Given the description of an element on the screen output the (x, y) to click on. 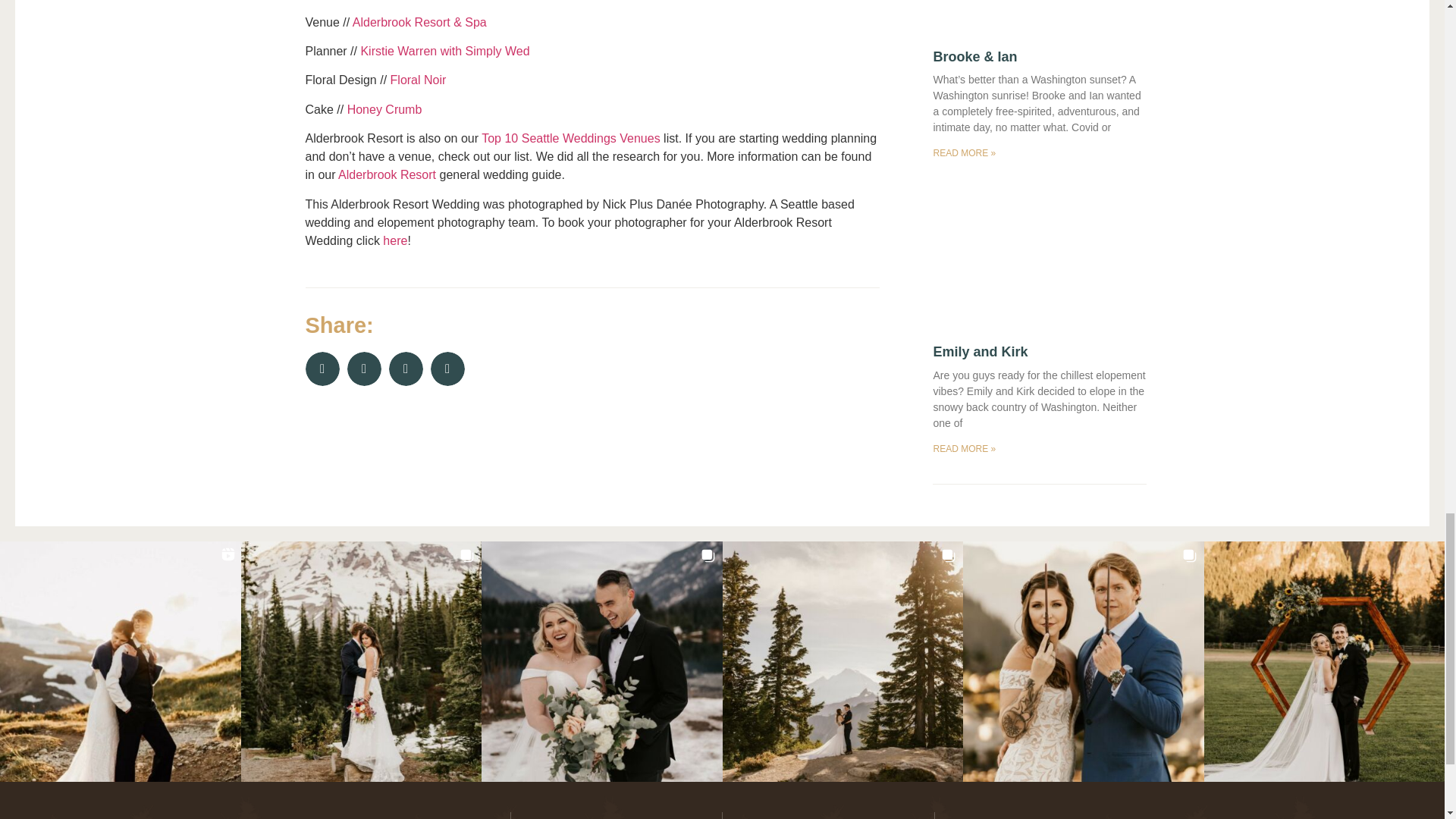
Alderbrook Resort (386, 174)
Kirstie Warren with Simply Wed (444, 51)
Honey Crumb (384, 109)
Top 10 Seattle Weddings Venues (570, 137)
here (394, 240)
Floral Noir (418, 79)
